Given the description of an element on the screen output the (x, y) to click on. 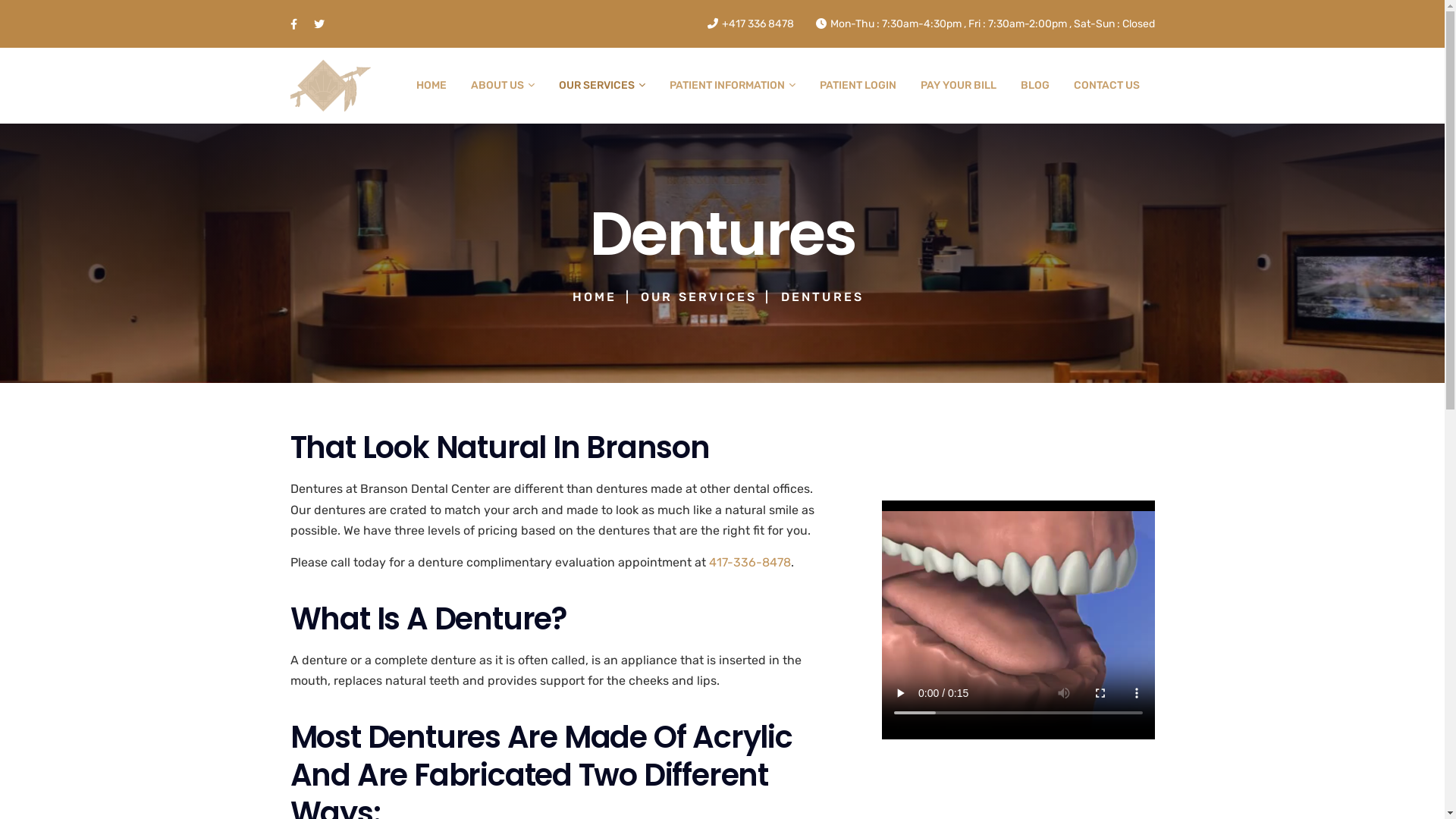
HOME Element type: text (594, 296)
BLOG Element type: text (1034, 85)
OUR SERVICES Element type: text (601, 85)
Branson Dental Center Phone Number
417-336-8478 Element type: text (749, 562)
ABOUT US Element type: text (502, 85)
+417 336 8478 Element type: text (749, 23)
CONTACT US Element type: text (1106, 85)
PATIENT INFORMATION Element type: text (731, 85)
HOME Element type: text (430, 85)
OUR SERVICES Element type: text (698, 296)
PATIENT LOGIN Element type: text (856, 85)
PAY YOUR BILL Element type: text (958, 85)
Branson Element type: hover (329, 85)
